Given the description of an element on the screen output the (x, y) to click on. 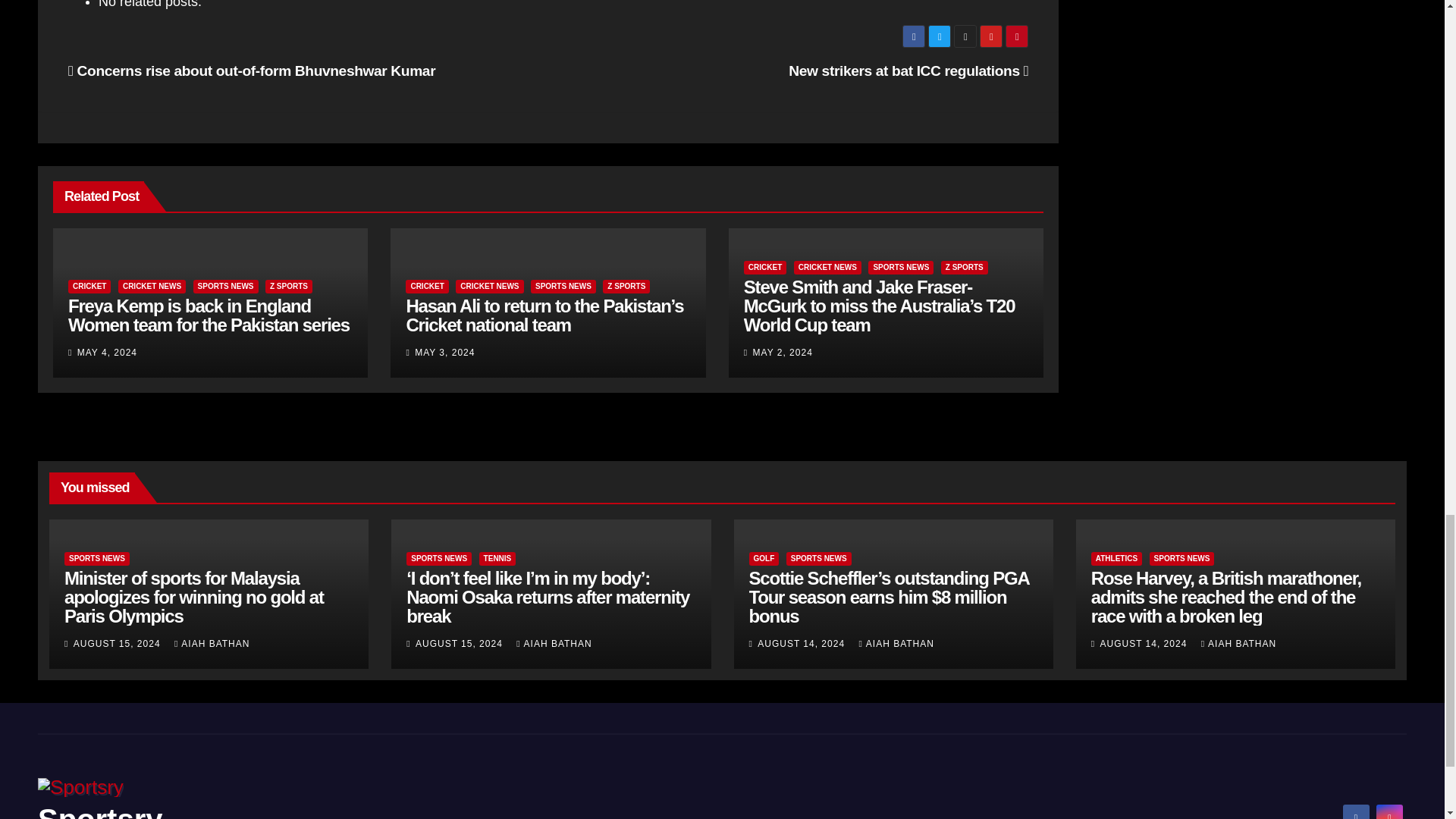
New strikers at bat ICC regulations (908, 70)
CRICKET NEWS (151, 286)
Concerns rise about out-of-form Bhuvneshwar Kumar (251, 70)
SPORTS NEWS (226, 286)
CRICKET (89, 286)
Z SPORTS (288, 286)
